Given the description of an element on the screen output the (x, y) to click on. 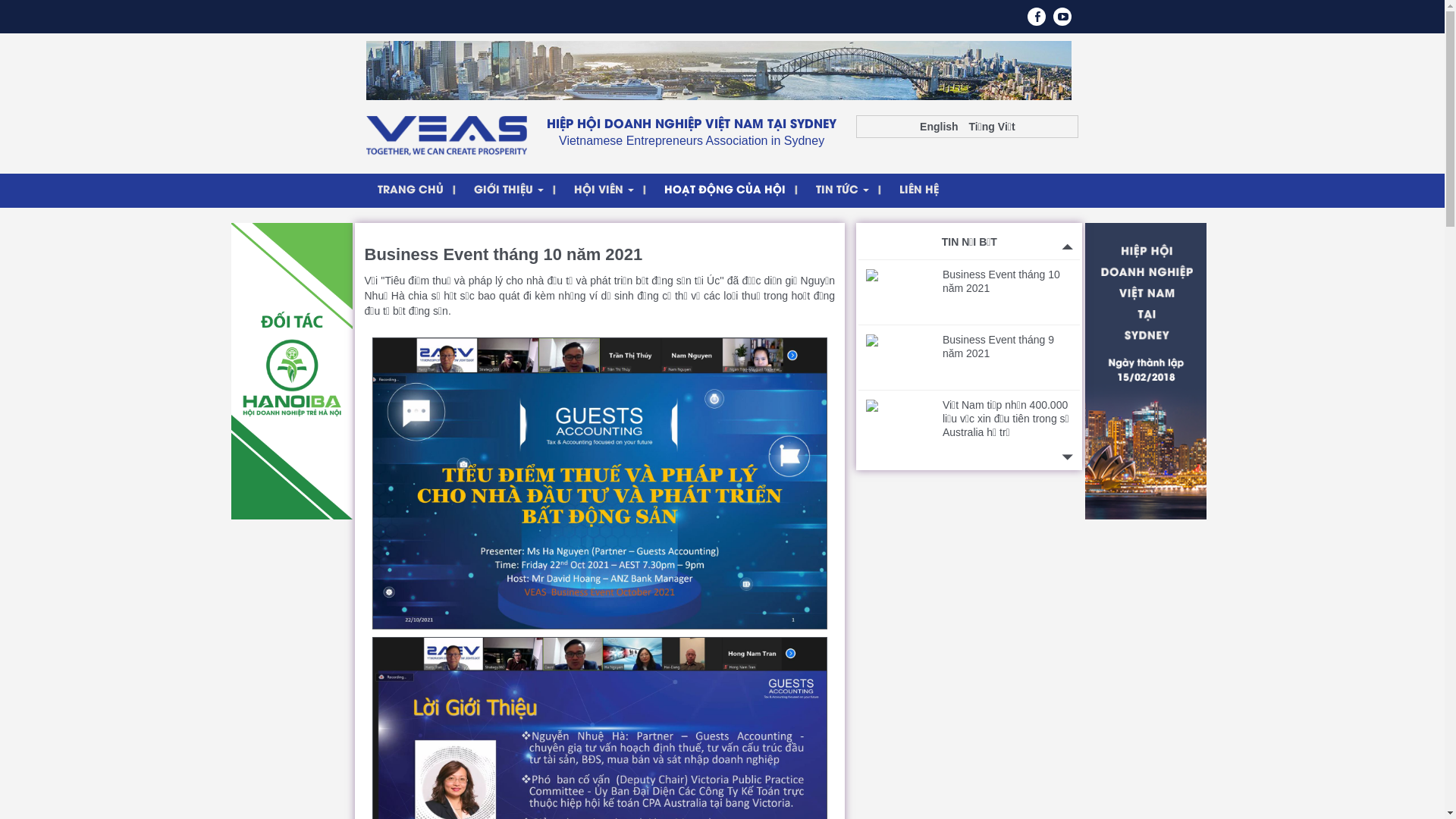
VEAS Element type: hover (446, 134)
English Element type: text (939, 125)
